Given the description of an element on the screen output the (x, y) to click on. 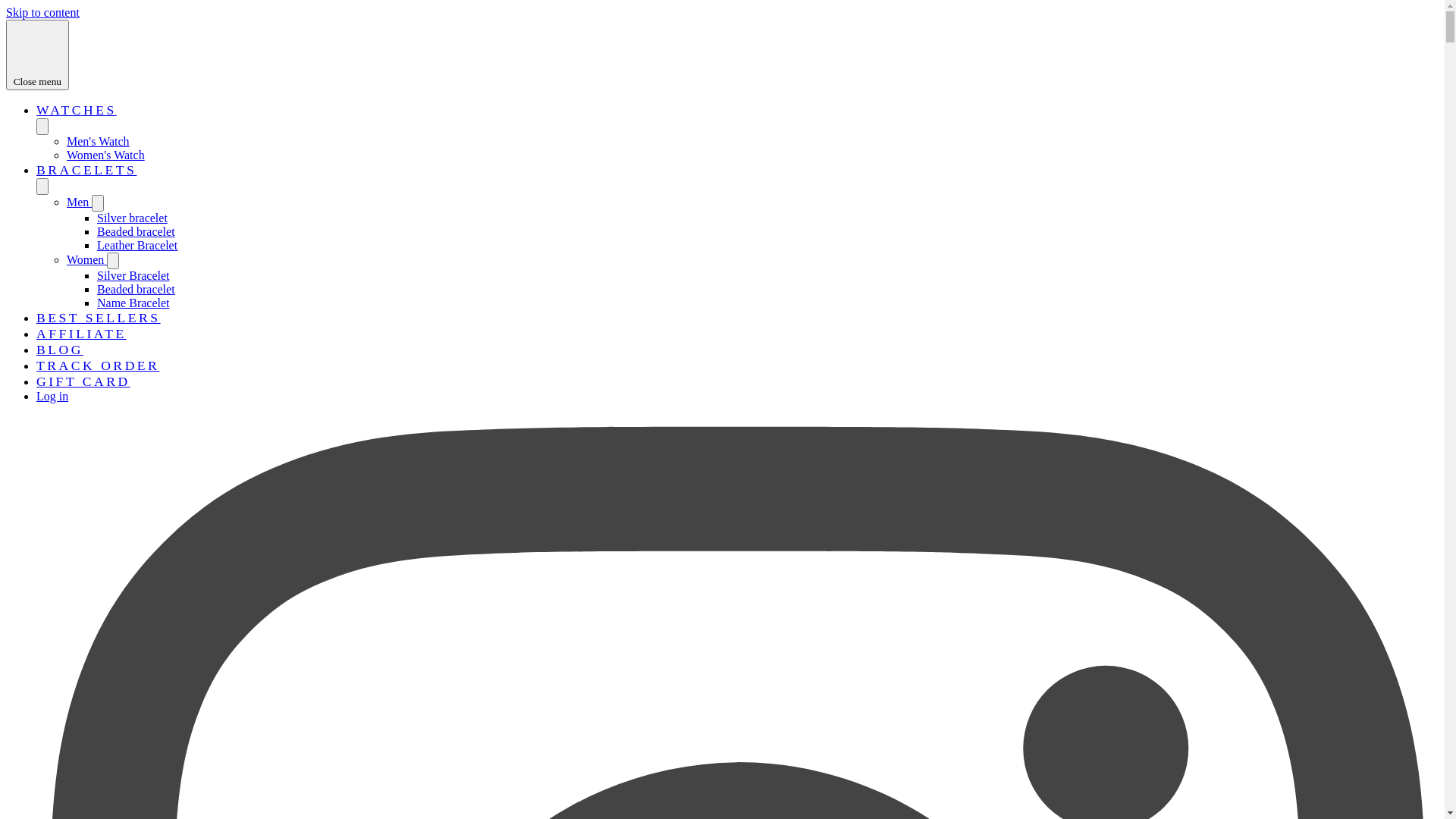
TRACK ORDER Element type: text (97, 365)
Close menu Element type: text (37, 54)
Beaded bracelet Element type: text (136, 288)
BEST SELLERS Element type: text (98, 317)
Men's Watch Element type: text (97, 140)
Skip to content Element type: text (42, 12)
Men Element type: text (78, 201)
Beaded bracelet Element type: text (136, 231)
Name Bracelet Element type: text (133, 302)
Log in Element type: text (52, 395)
BLOG Element type: text (59, 349)
Women Element type: text (86, 259)
WATCHES Element type: text (76, 109)
BRACELETS Element type: text (86, 169)
Silver Bracelet Element type: text (133, 275)
Silver bracelet Element type: text (132, 217)
Women's Watch Element type: text (105, 154)
GIFT CARD Element type: text (83, 381)
Leather Bracelet Element type: text (137, 244)
AFFILIATE Element type: text (81, 333)
